Given the description of an element on the screen output the (x, y) to click on. 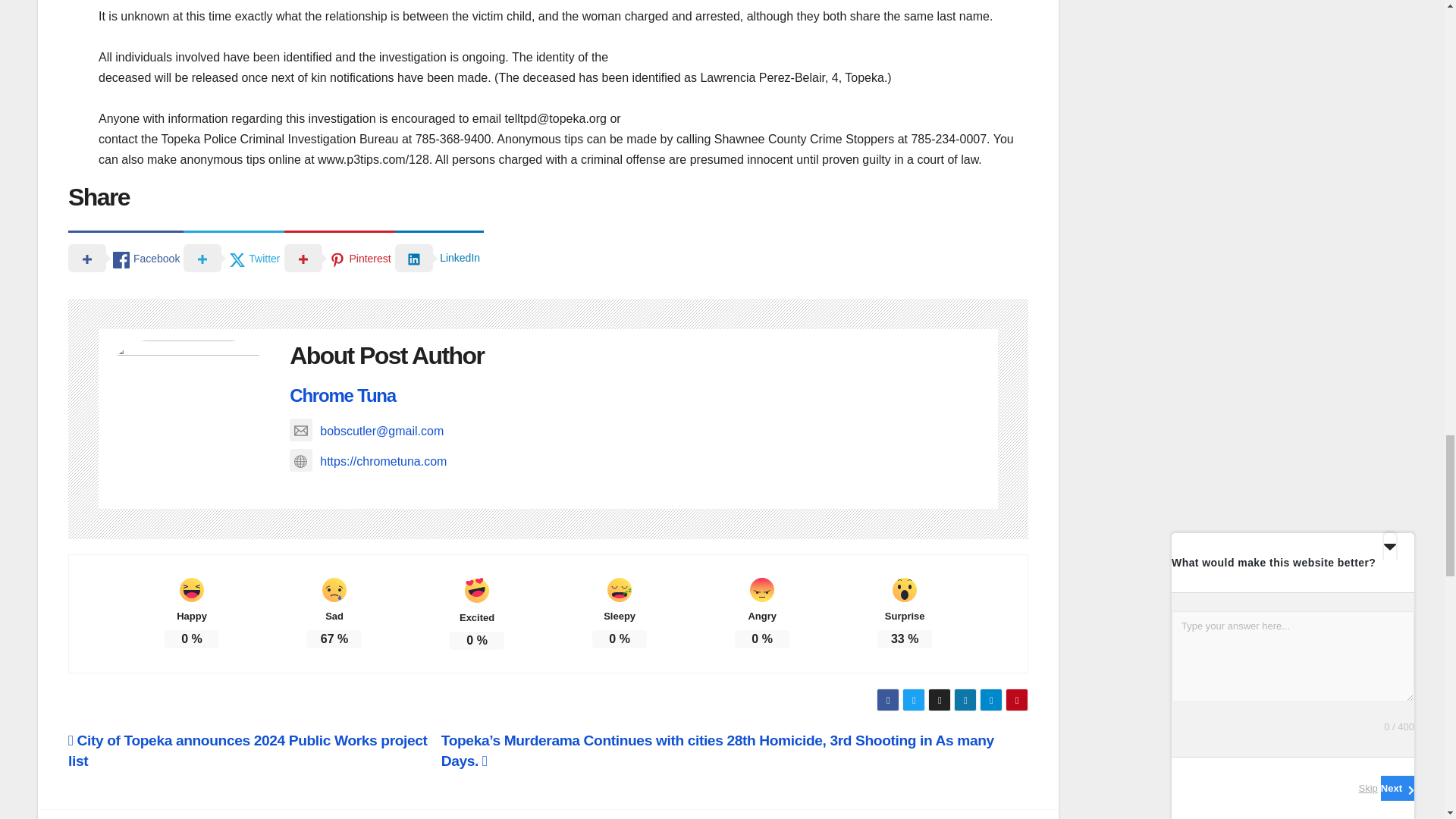
Chrome Tuna (342, 394)
Twitter (233, 256)
Pinterest (338, 256)
LinkedIn (438, 256)
Facebook (125, 256)
